Given the description of an element on the screen output the (x, y) to click on. 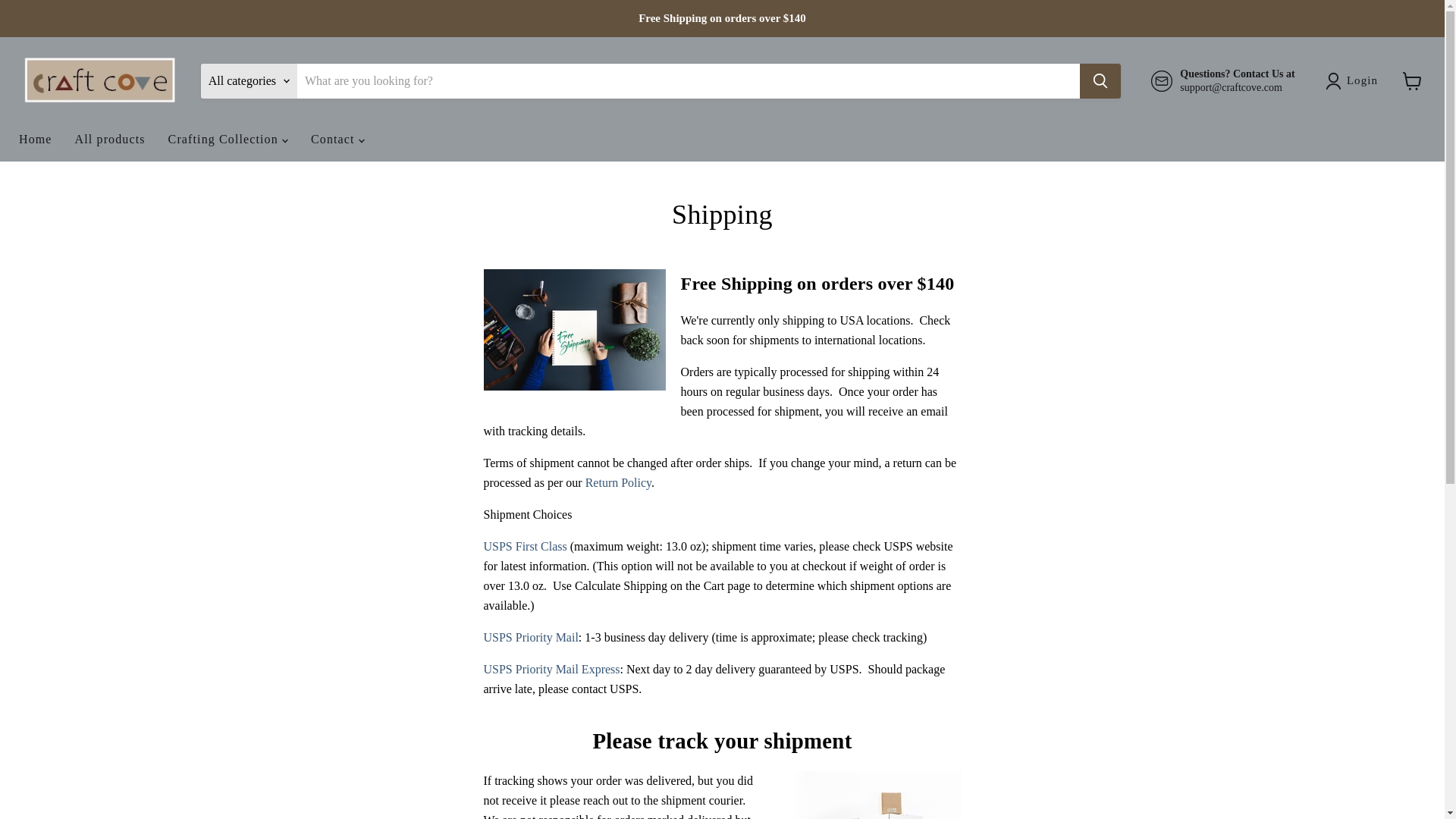
USPS First Class (525, 545)
Return Policy (617, 481)
Login (1362, 81)
All products (110, 139)
View cart (1411, 80)
Home (35, 139)
USPS Priority Mail Express (551, 668)
USPS Priority Mail (530, 636)
